Given the description of an element on the screen output the (x, y) to click on. 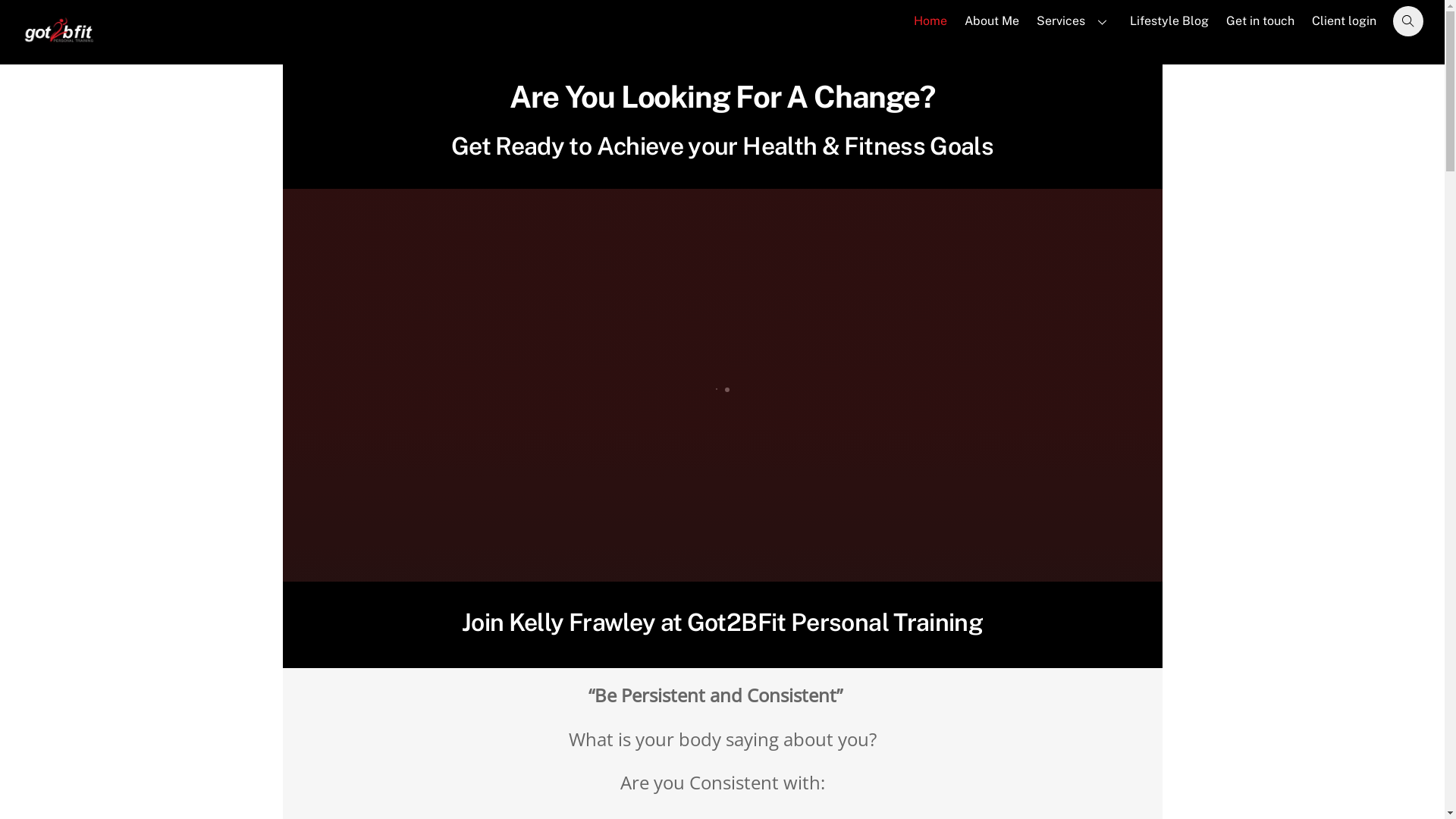
Home Element type: text (929, 20)
Search Element type: hover (1409, 21)
Client login Element type: text (1344, 20)
Lifestyle Blog Element type: text (1168, 20)
got-2-b-fit-jimboomba-logo Element type: hover (59, 28)
About Me Element type: text (991, 20)
Get in touch Element type: text (1260, 20)
Services Element type: text (1074, 20)
Got2BFit Jimboomba Element type: hover (59, 43)
